Given the description of an element on the screen output the (x, y) to click on. 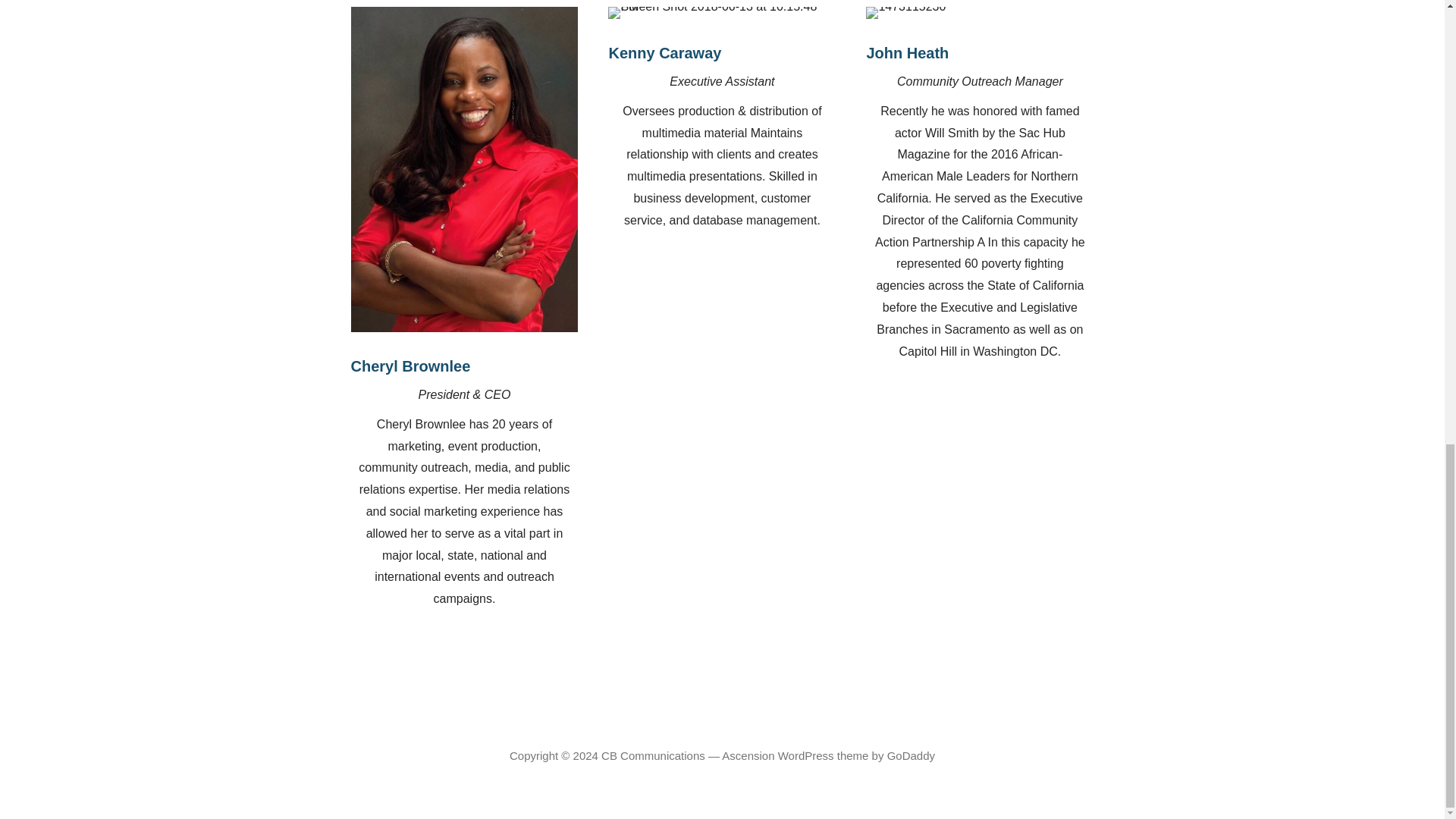
Screen Shot 2018-06-13 at 10.15.48 PM (721, 12)
GoDaddy (910, 755)
1473115230 (905, 12)
